Given the description of an element on the screen output the (x, y) to click on. 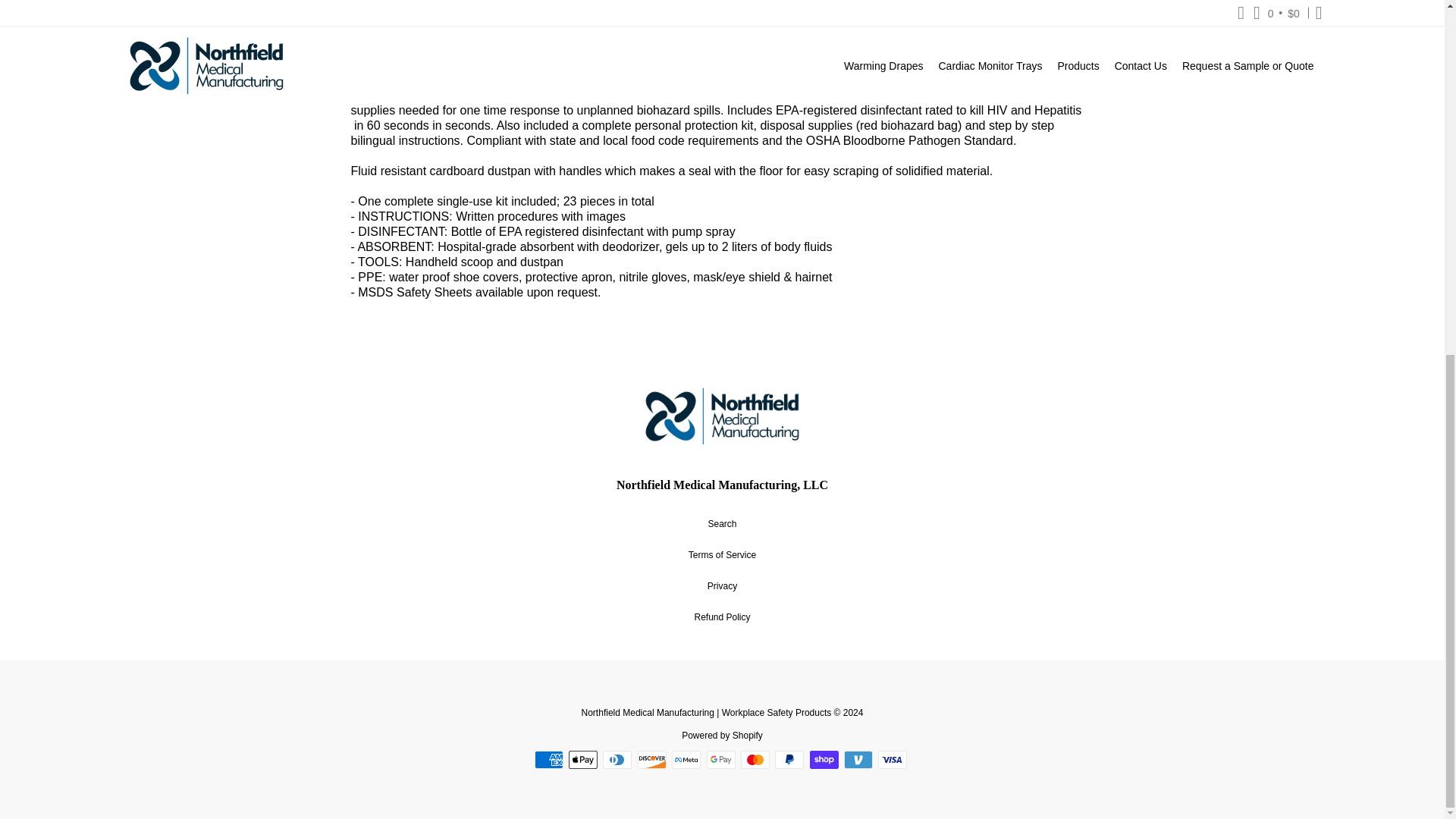
Venmo (858, 760)
OSHA Bloodborne Pathogen Spill Kit with Cardboard Dustpan (494, 1)
American Express (548, 760)
Description (405, 41)
Diners Club (616, 760)
Apple Pay (582, 760)
Shop Pay (823, 760)
Search (721, 523)
PayPal (788, 760)
Visa (892, 760)
Powered by Shopify (721, 735)
OSHA Bloodborne Pathogen Spill Kit with Cardboard Dustpan (608, 1)
Mastercard (755, 760)
Discover (651, 760)
Terms of Service (721, 554)
